Given the description of an element on the screen output the (x, y) to click on. 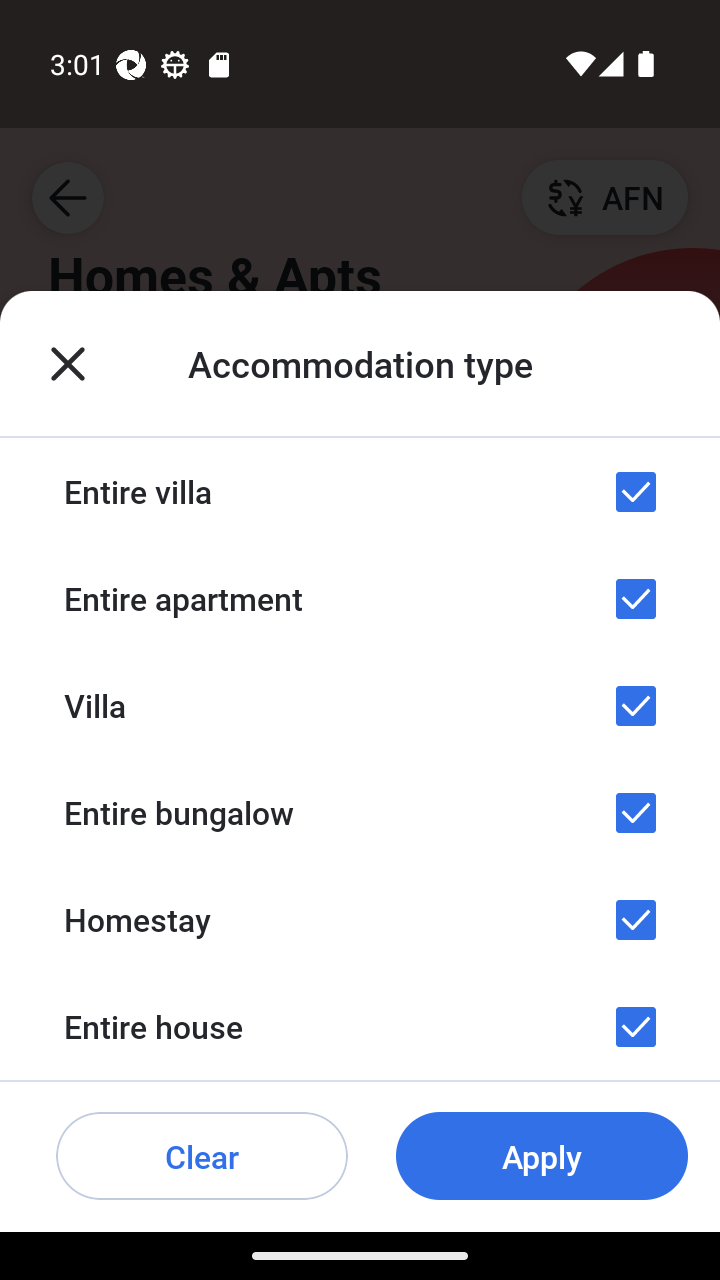
Entire villa (359, 492)
Entire apartment (359, 598)
Villa (359, 705)
Entire bungalow (359, 813)
Homestay (359, 919)
Entire house (359, 1027)
Clear (201, 1156)
Apply (542, 1156)
